Given the description of an element on the screen output the (x, y) to click on. 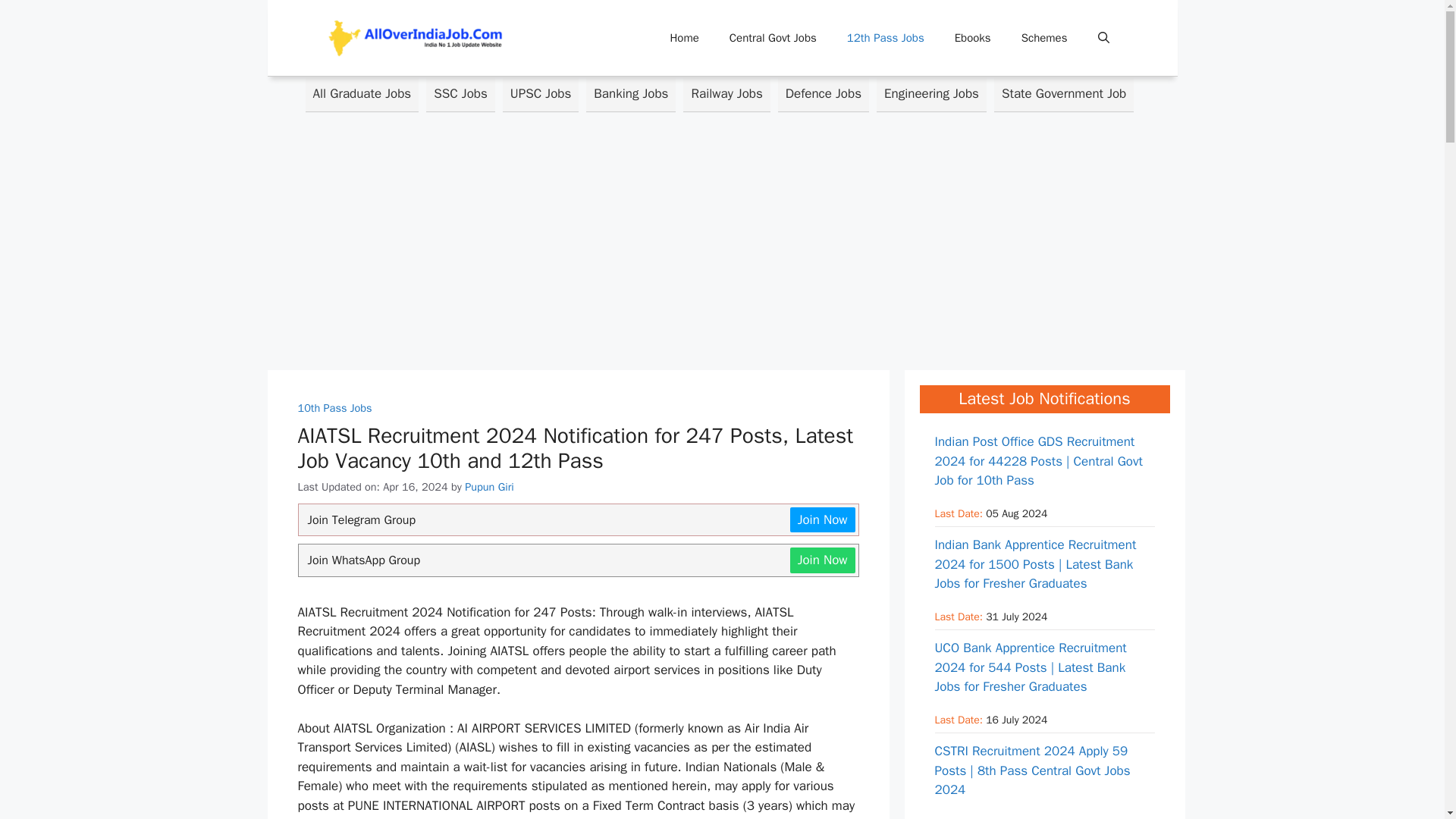
View all posts by Pupun Giri (488, 486)
Railway Jobs (726, 94)
Schemes (1044, 37)
UPSC Jobs (540, 94)
SSC Jobs (460, 94)
Central Govt Jobs (772, 37)
Engineering Jobs (931, 94)
Join Now (823, 519)
12th Pass Jobs (885, 37)
Banking Jobs (630, 94)
All Graduate Jobs (361, 94)
Ebooks (972, 37)
10th Pass Jobs (334, 407)
Join Now (823, 560)
Home (683, 37)
